Given the description of an element on the screen output the (x, y) to click on. 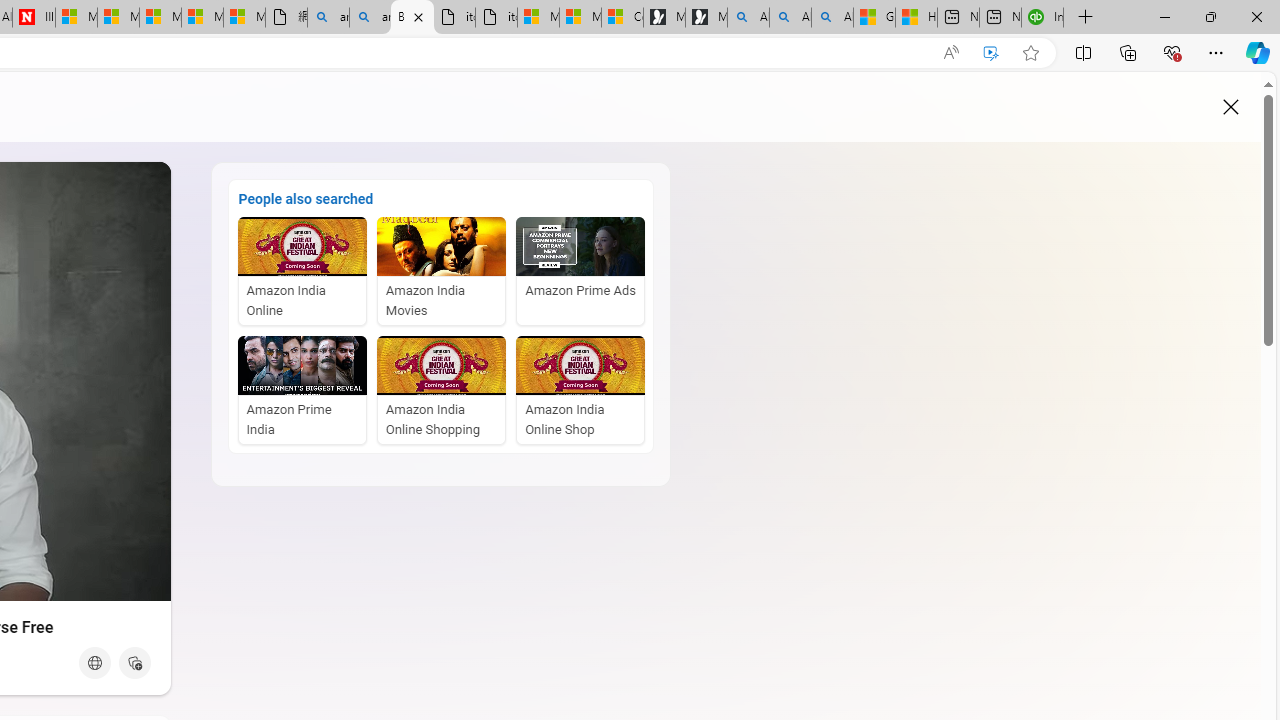
Alabama high school quarterback dies - Search (748, 17)
Enhance video (991, 53)
View page (94, 662)
Amazon India Online Shopping (441, 389)
Intuit QuickBooks Online - Quickbooks (1042, 17)
How to Use a TV as a Computer Monitor (916, 17)
Alabama high school quarterback dies - Search Videos (831, 17)
Bing Videos - Audio playing (411, 17)
